Given the description of an element on the screen output the (x, y) to click on. 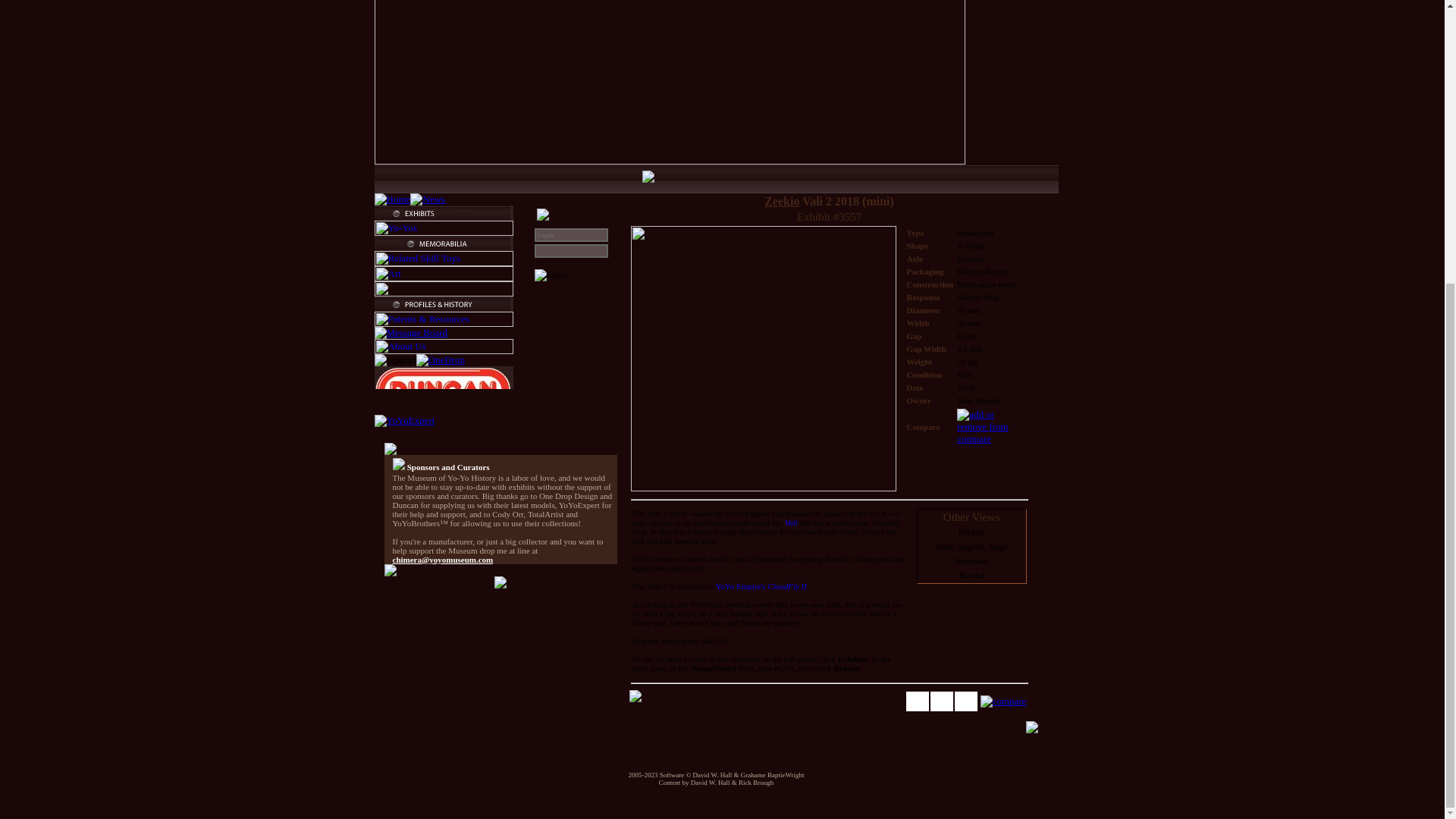
Side, angled, large (971, 546)
Vali (790, 522)
Profile (971, 531)
add or remove from compare (990, 426)
Zeekio (781, 201)
Boxed (971, 574)
Login (570, 234)
YoYo Empire's CloudFly II (760, 585)
Internals (971, 560)
